Given the description of an element on the screen output the (x, y) to click on. 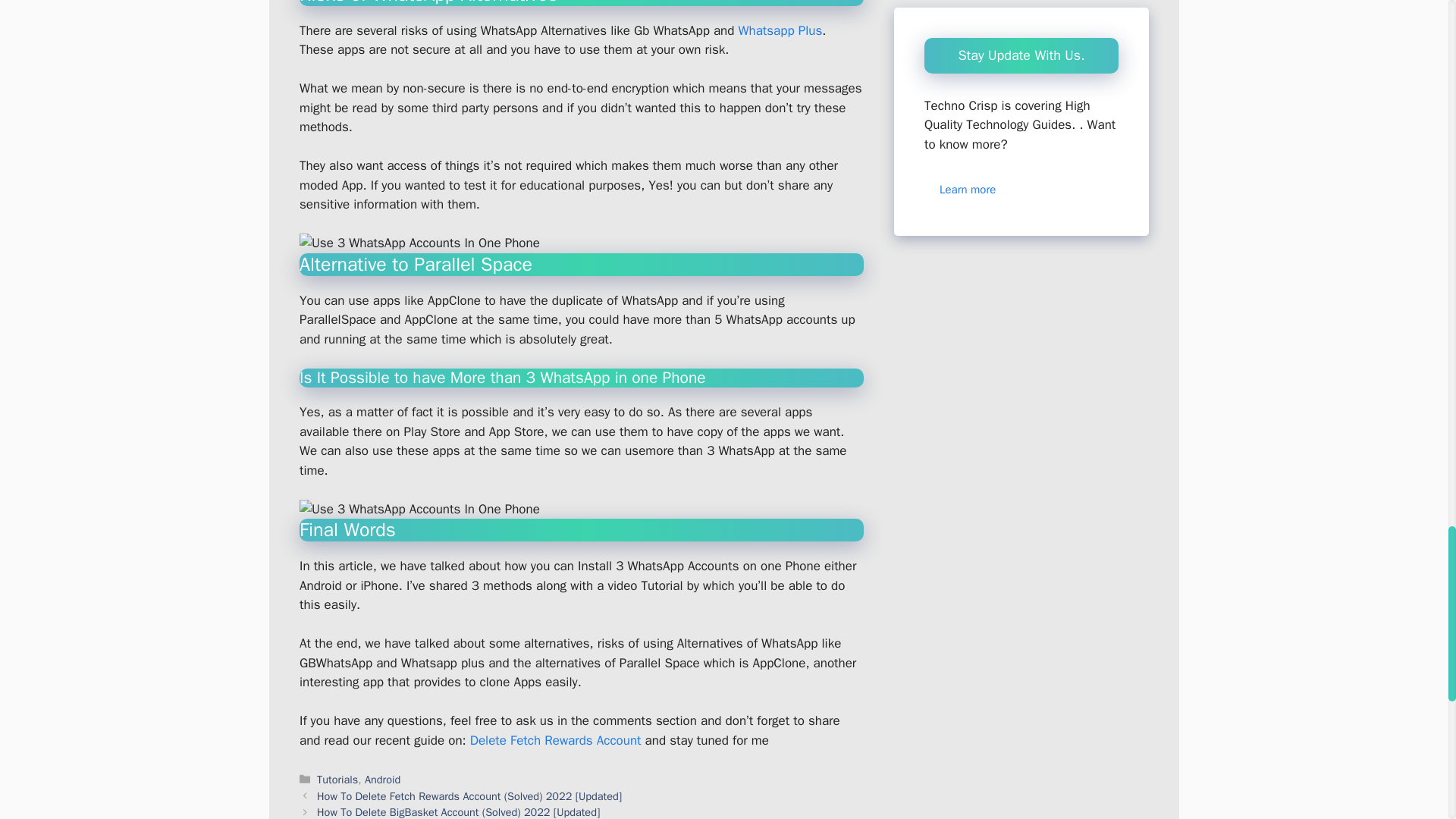
Delete Fetch Rewards Account (556, 740)
Tutorials (337, 779)
Android (382, 779)
Whatsapp Plus (780, 30)
